Given the description of an element on the screen output the (x, y) to click on. 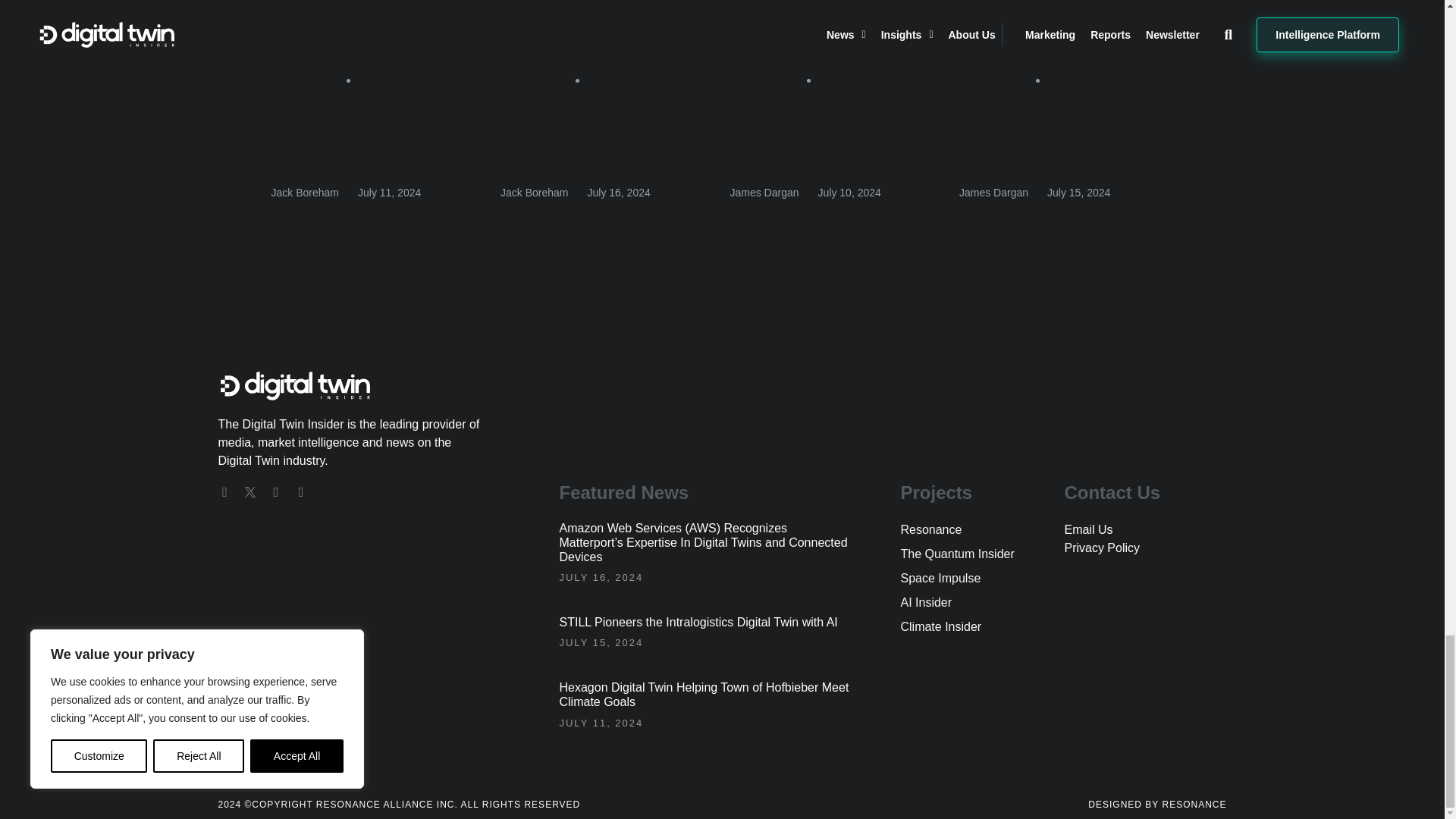
full logo white (293, 386)
